Given the description of an element on the screen output the (x, y) to click on. 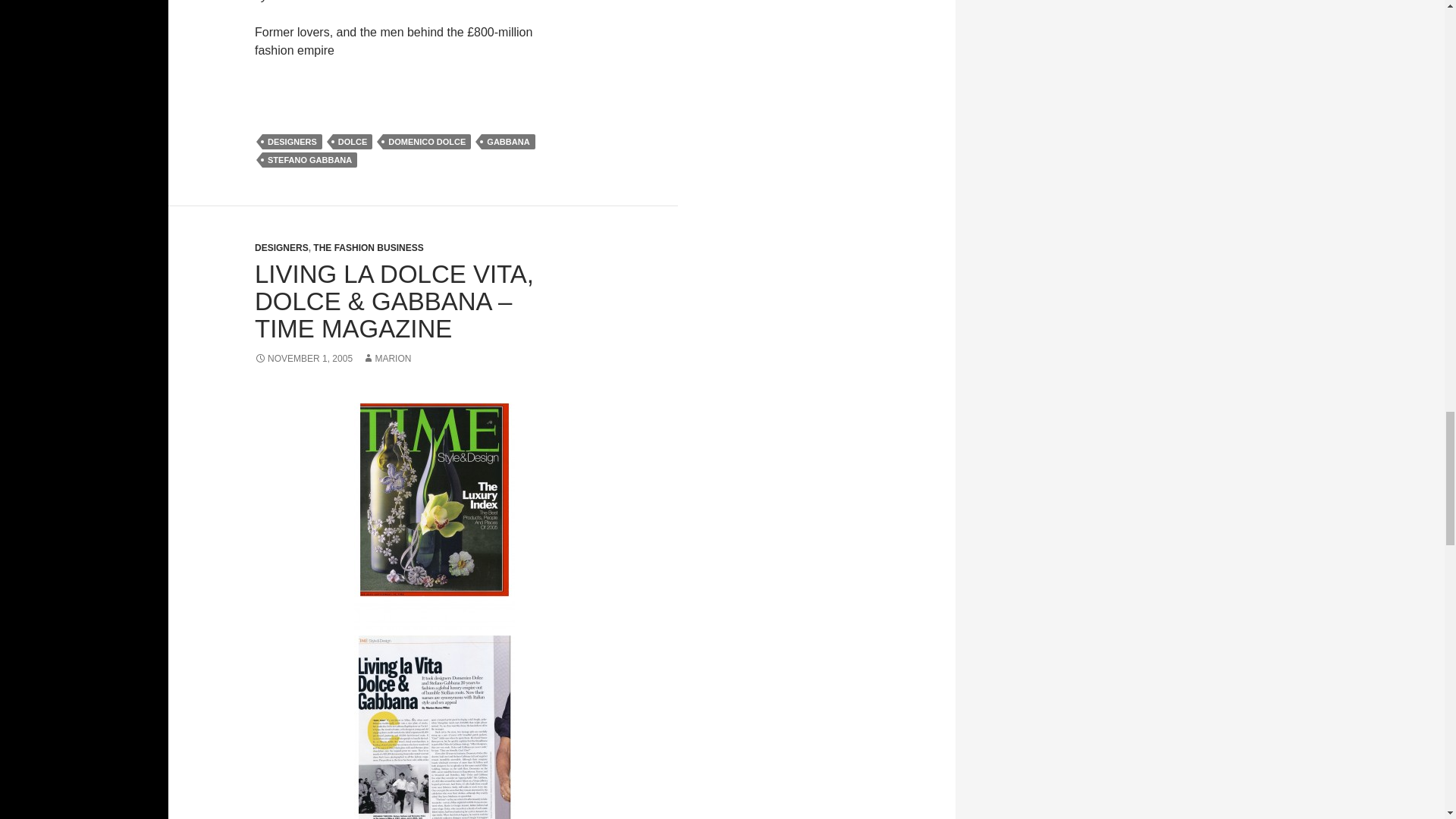
GABBANA (507, 141)
DESIGNERS (291, 141)
DOMENICO DOLCE (426, 141)
DOLCE (352, 141)
